Given the description of an element on the screen output the (x, y) to click on. 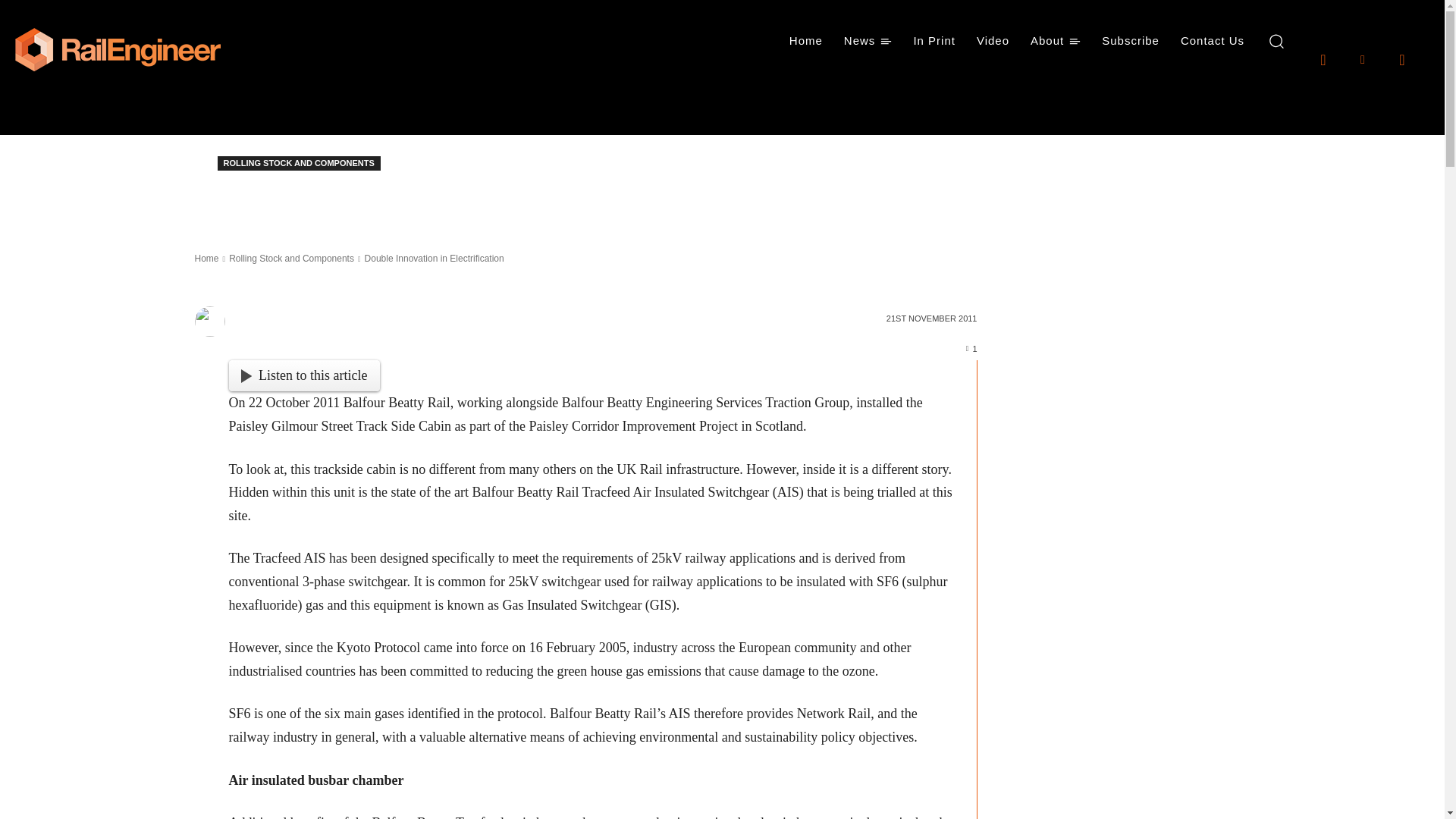
In Print (934, 40)
News (867, 40)
Video (993, 40)
Linkedin (1361, 58)
About (1055, 40)
Home (805, 40)
Facebook (1322, 58)
View all posts in Rolling Stock and Components (290, 258)
Twitter (1401, 58)
